Given the description of an element on the screen output the (x, y) to click on. 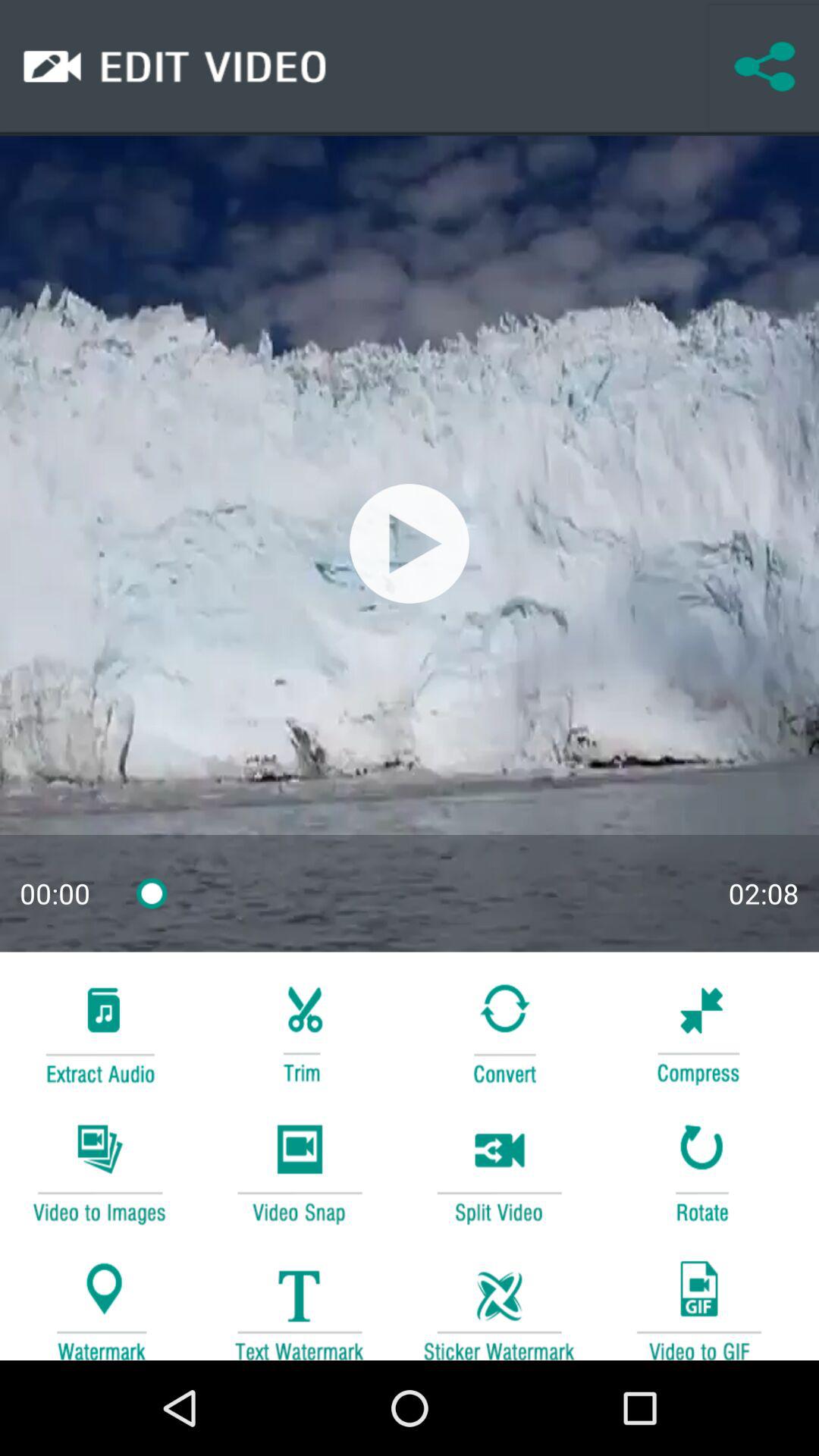
convert this video to a gif (698, 1303)
